Given the description of an element on the screen output the (x, y) to click on. 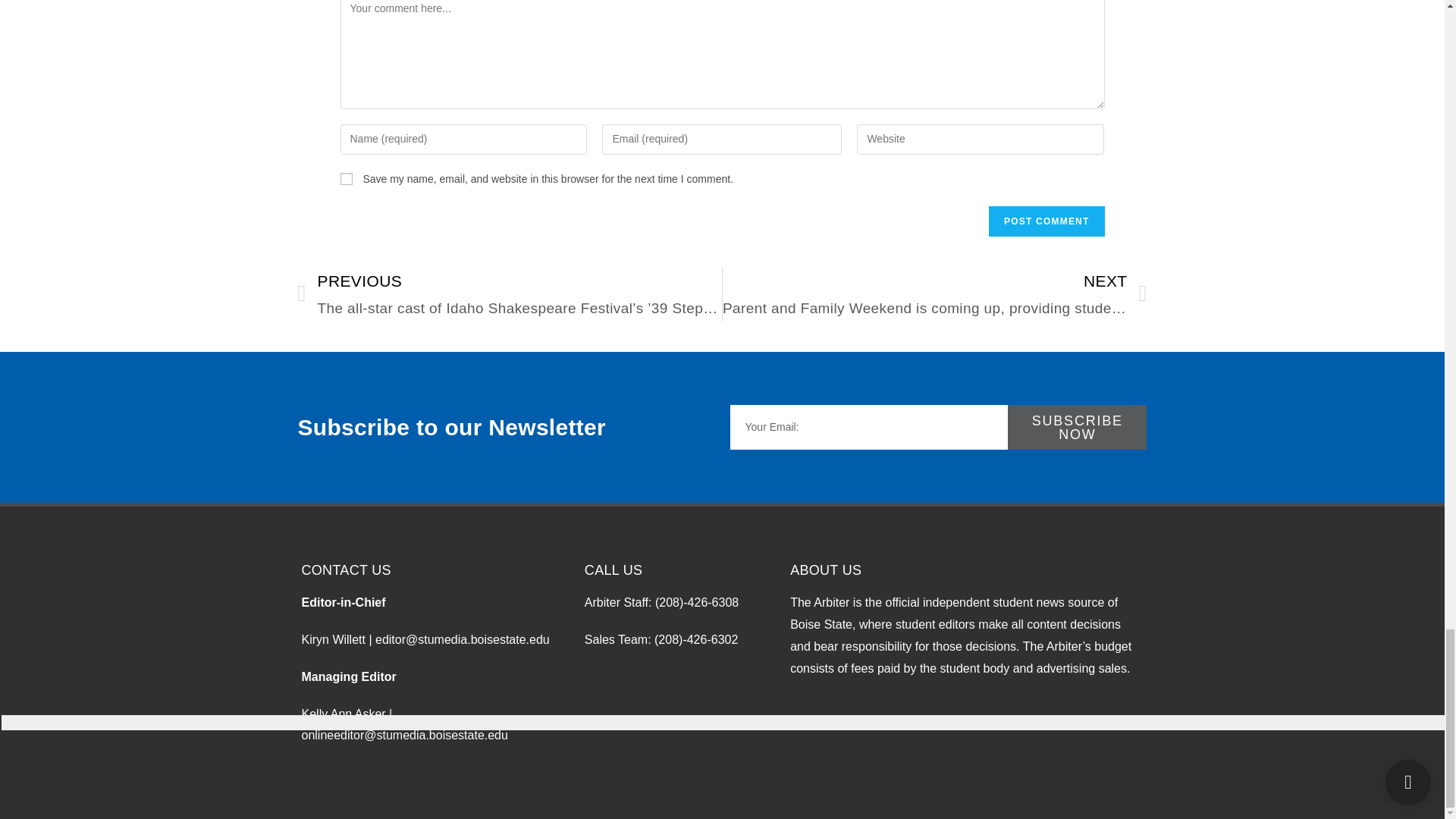
yes (345, 178)
Post Comment (1045, 221)
